Given the description of an element on the screen output the (x, y) to click on. 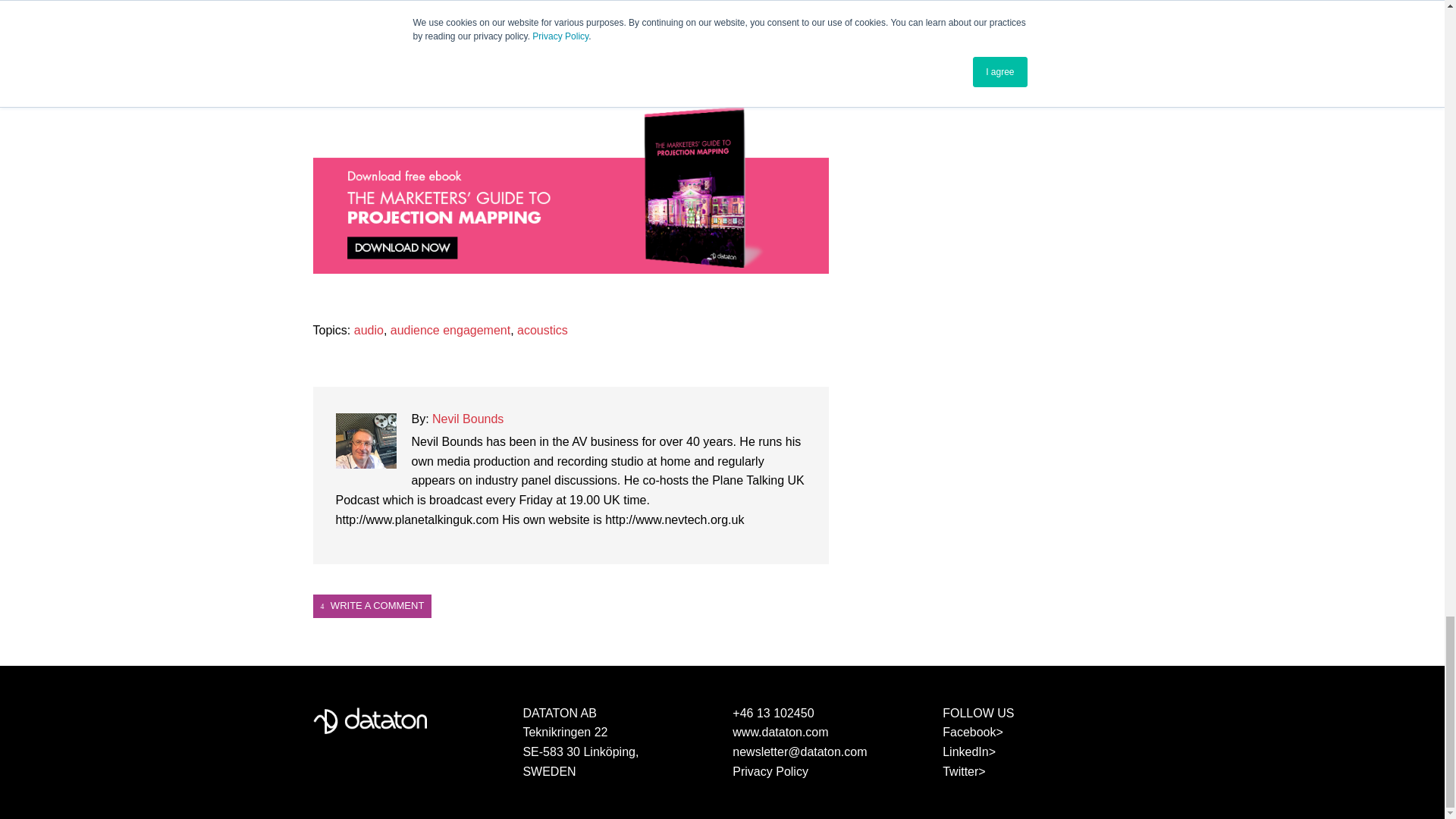
audio (368, 329)
media server (567, 22)
acoustics (541, 329)
Dataton (369, 720)
audience engagement (450, 329)
WATCHOUT (425, 31)
Nevil Bounds (467, 418)
